Given the description of an element on the screen output the (x, y) to click on. 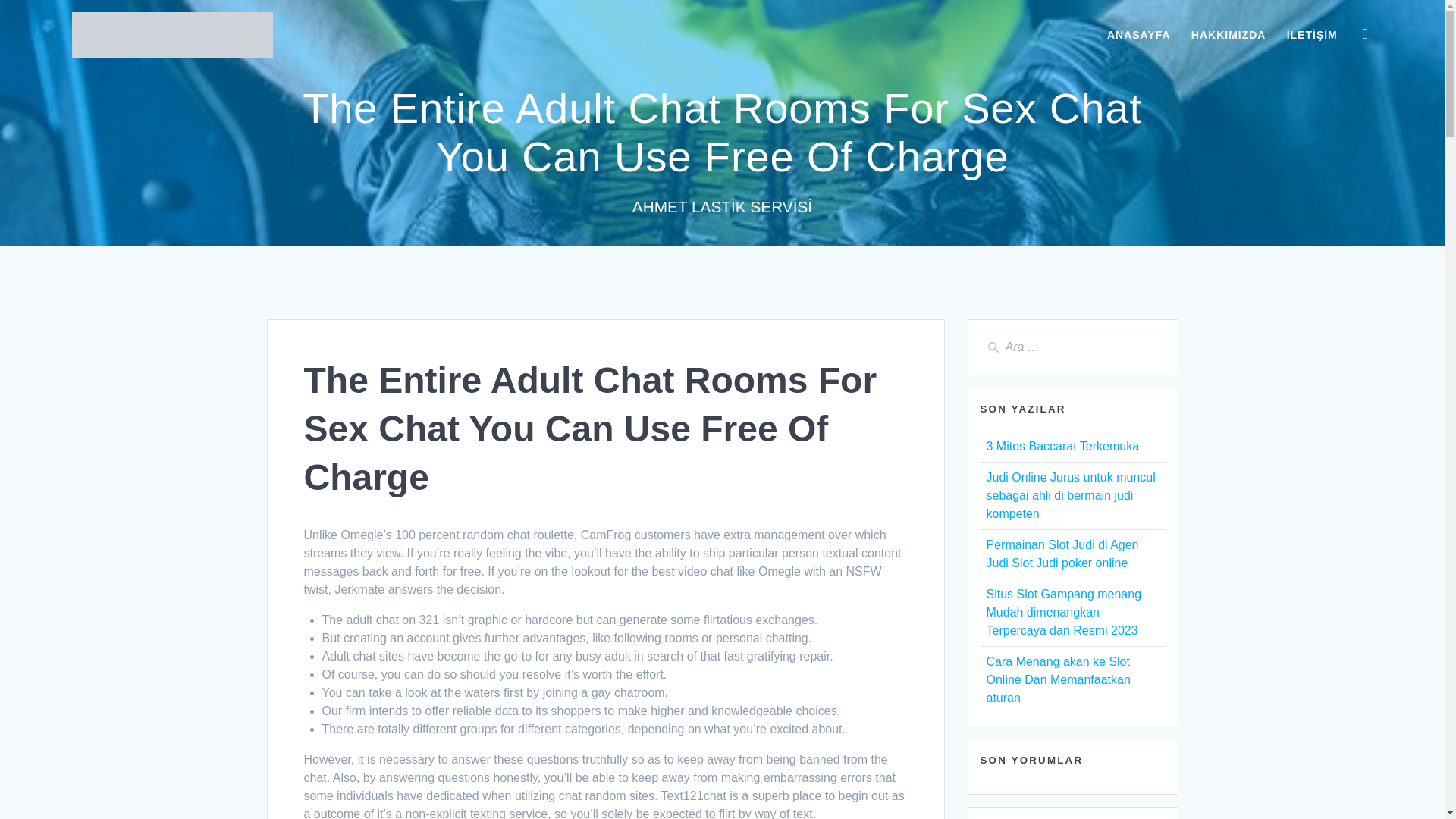
Cara Menang akan ke Slot Online Dan Memanfaatkan aturan (1057, 679)
ANASAYFA (1138, 34)
Permainan Slot Judi di Agen Judi Slot Judi poker online (1061, 553)
HAKKIMIZDA (1228, 34)
3 Mitos Baccarat Terkemuka (1061, 445)
